Given the description of an element on the screen output the (x, y) to click on. 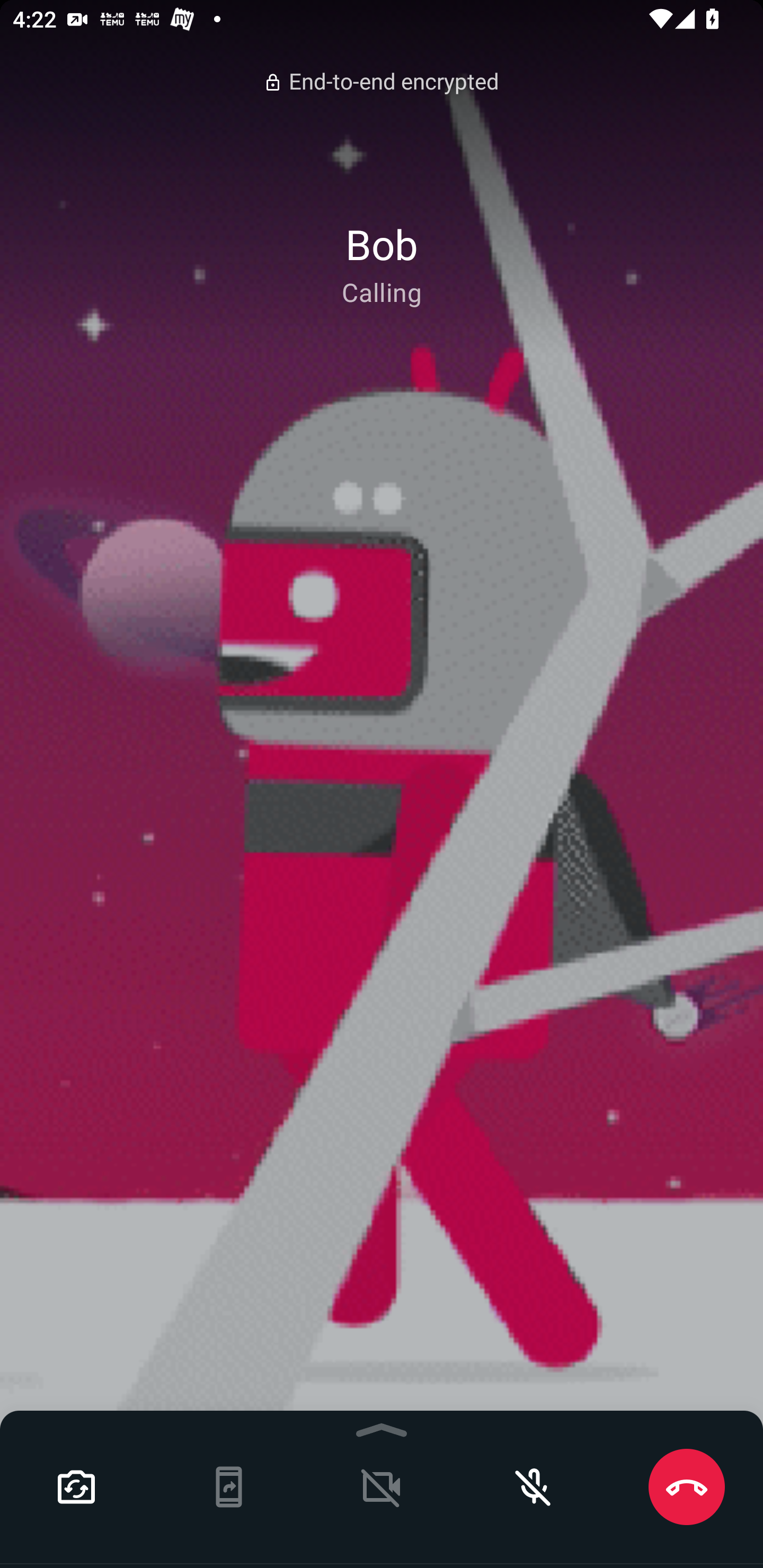
Switch camera (76, 1486)
Start screen sharing (228, 1486)
Turn camera off (381, 1486)
Mute microphone (533, 1486)
Leave call (686, 1486)
